Given the description of an element on the screen output the (x, y) to click on. 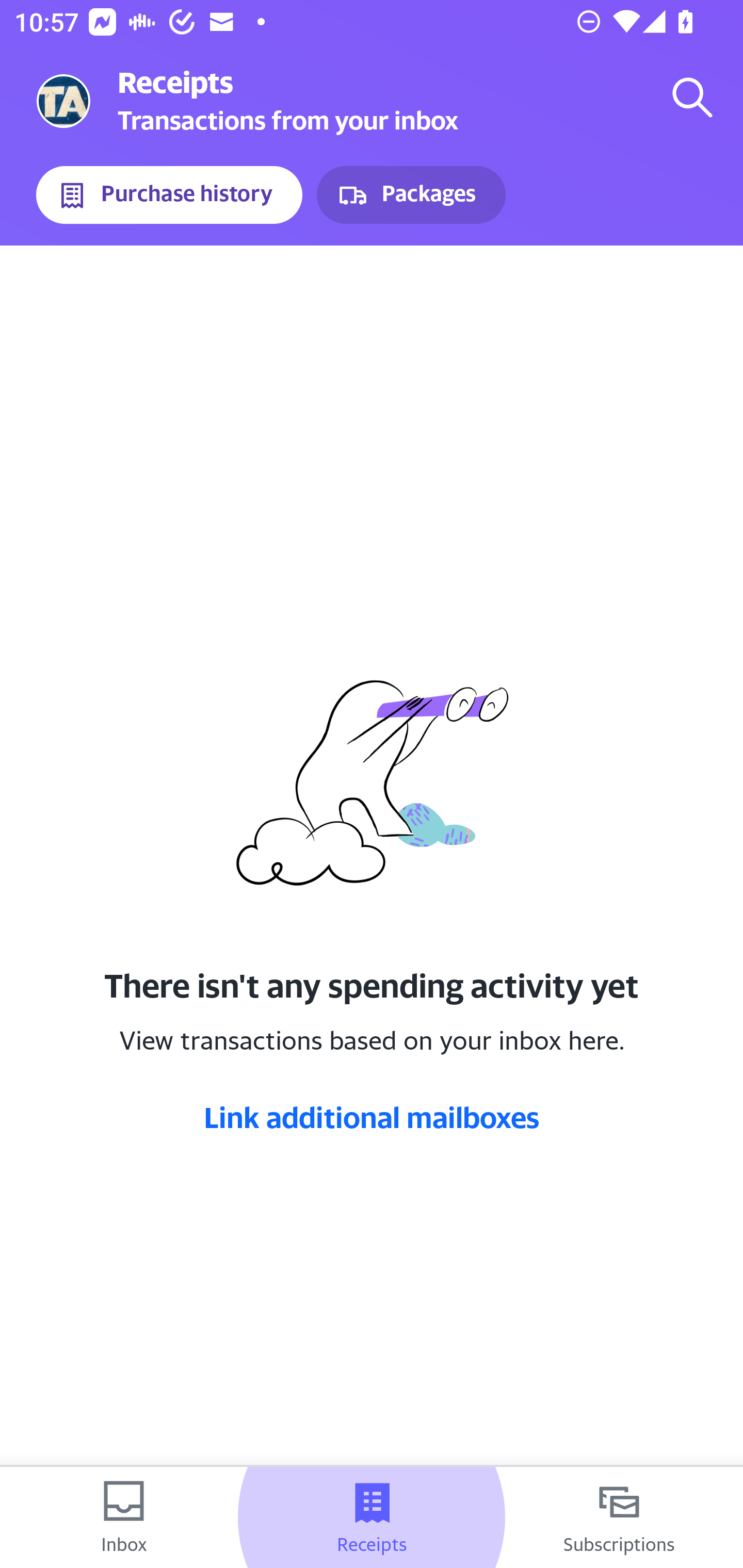
Search mail (692, 97)
Packages (410, 195)
Link additional mailboxes (371, 1117)
Inbox (123, 1517)
Receipts (371, 1517)
Subscriptions (619, 1517)
